Given the description of an element on the screen output the (x, y) to click on. 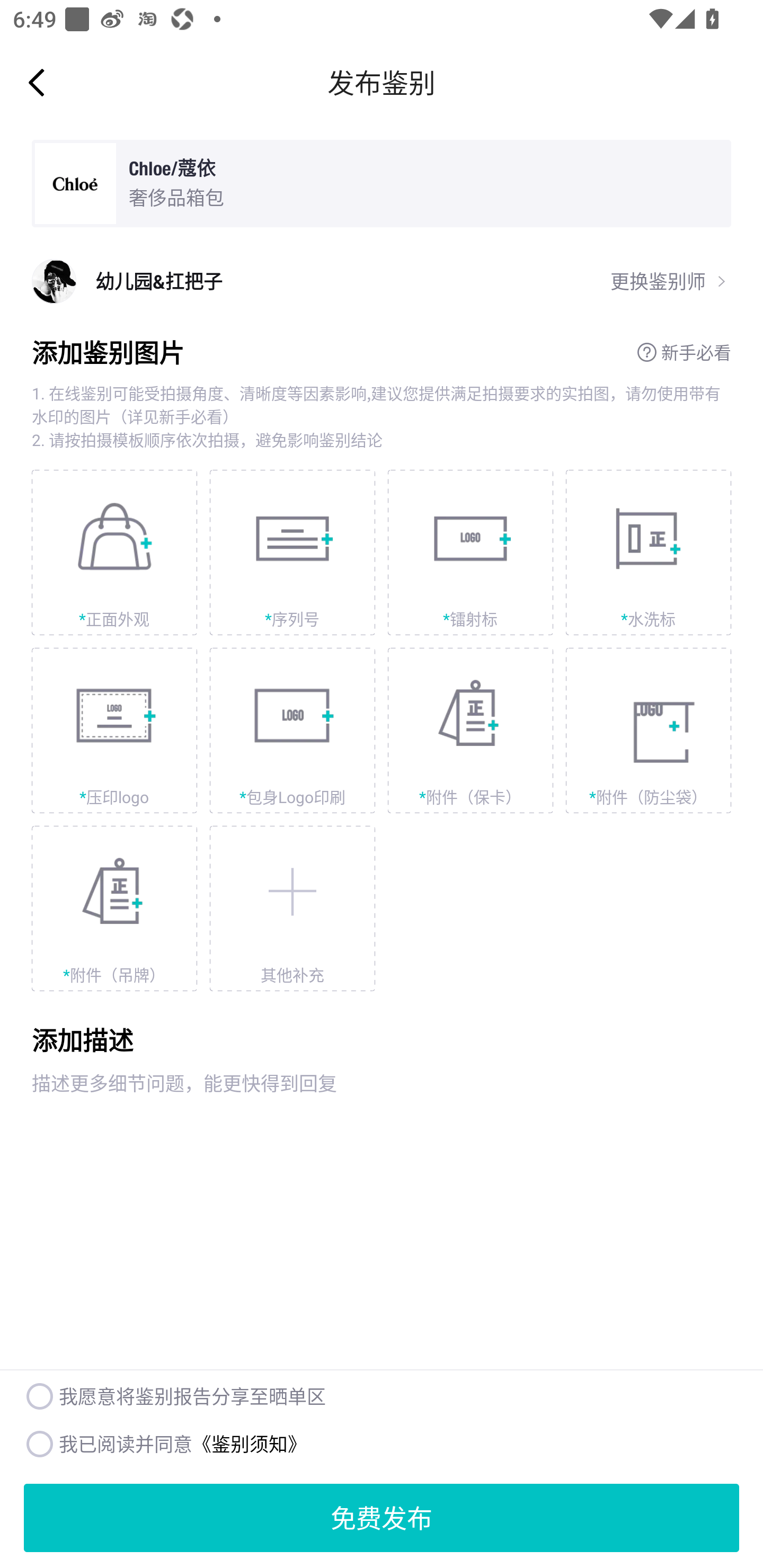
Navigate up (36, 82)
幼儿园&扛把子 更换鉴别师 (381, 281)
新手必看 (683, 351)
* 正面外观 (114, 552)
* 序列号 (292, 552)
* 镭射标 (470, 552)
* 水洗标 (648, 552)
* 压印logo (114, 730)
* 包身Logo印刷 (292, 730)
* 附件（保卡） (470, 730)
* 附件（防尘袋） (648, 730)
* 附件（吊牌） (114, 908)
其他补充 (292, 908)
描述更多细节问题，能更快得到回复 (381, 1148)
《鉴别须知》 (249, 1443)
免费发布 (381, 1517)
